Given the description of an element on the screen output the (x, y) to click on. 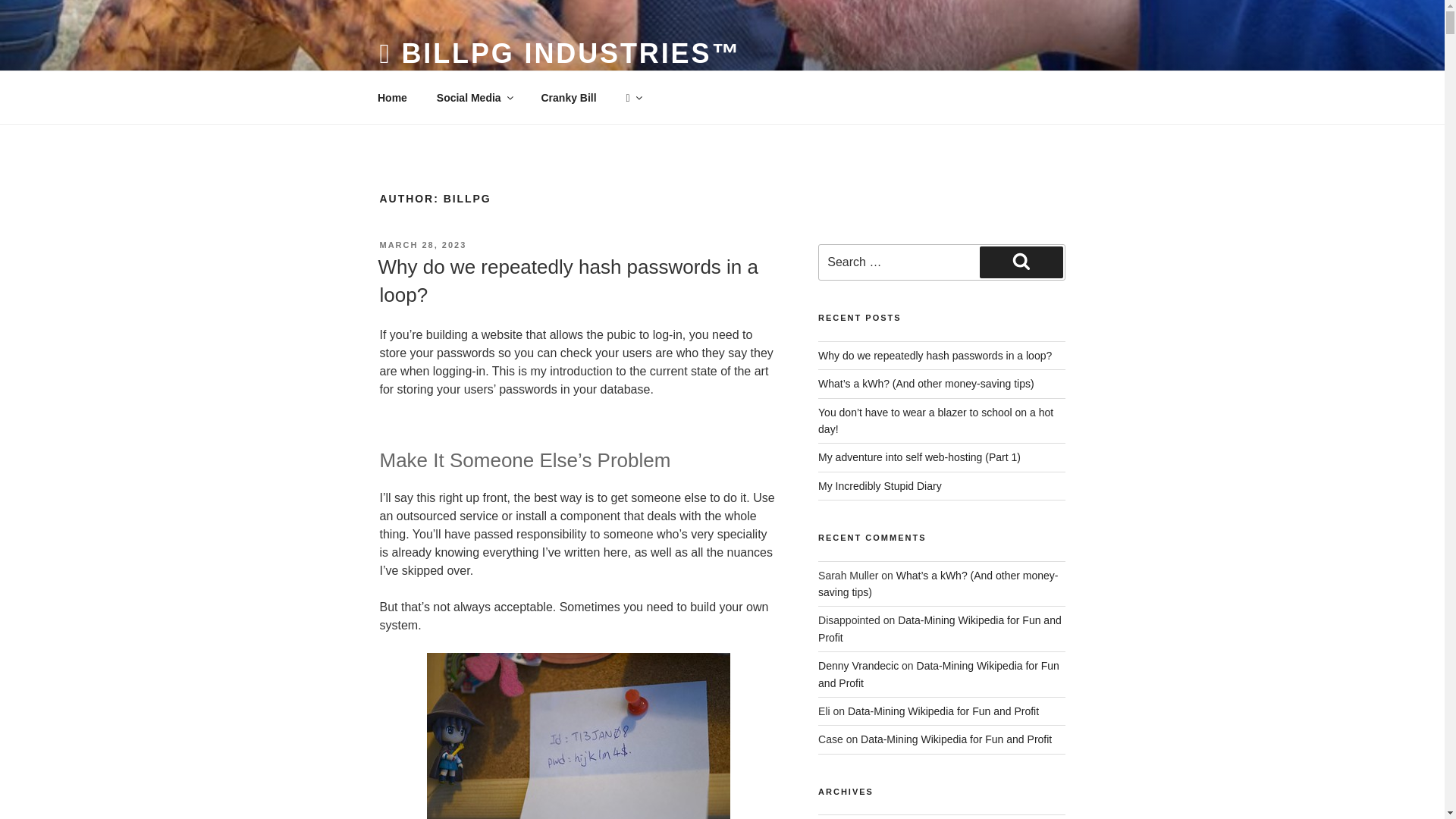
Cranky Bill (568, 97)
Social Media (473, 97)
MARCH 28, 2023 (421, 244)
Why do we repeatedly hash passwords in a loop? (567, 280)
Home (392, 97)
